Given the description of an element on the screen output the (x, y) to click on. 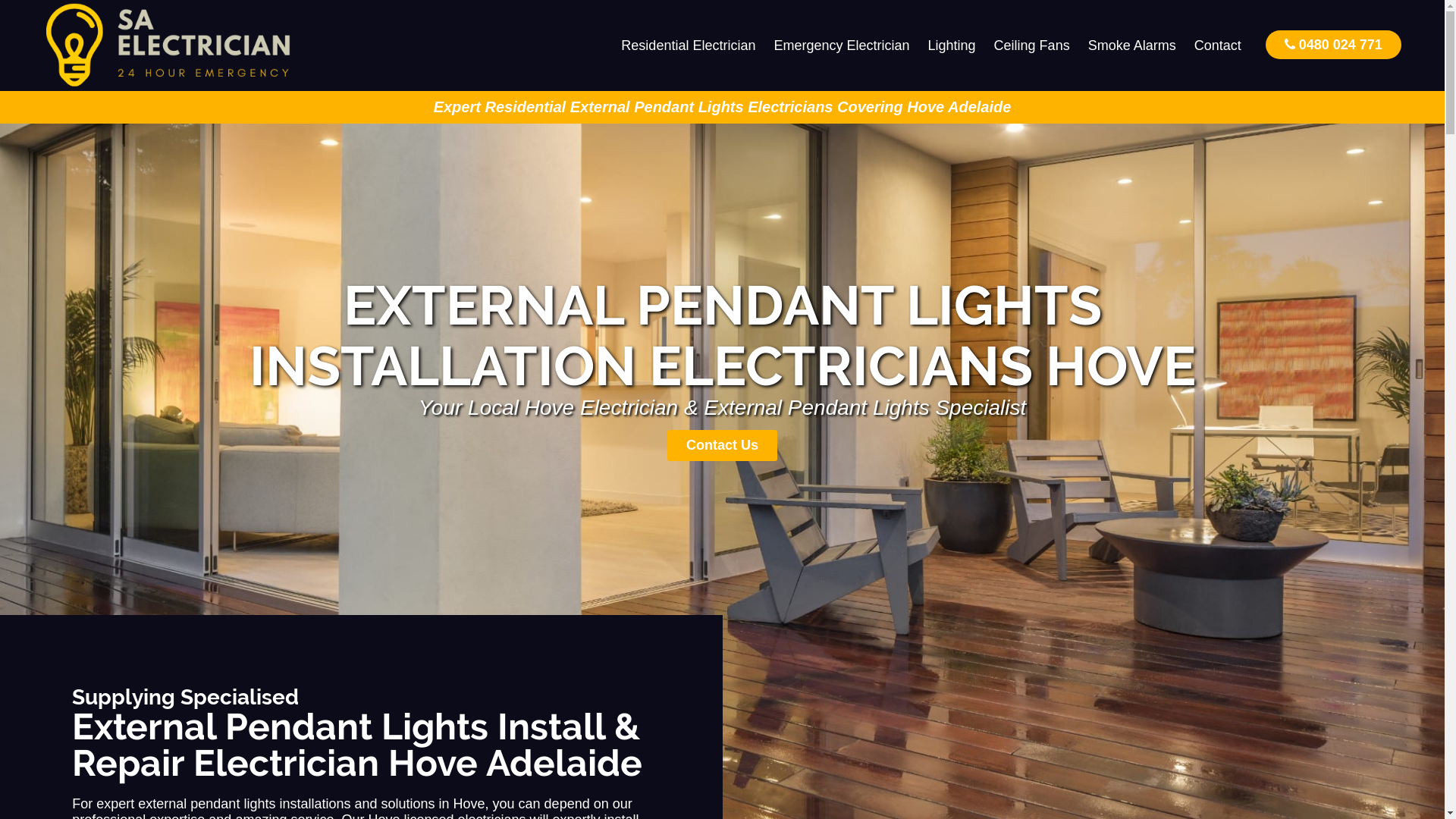
Ceiling Fans Element type: text (1032, 45)
Lighting Element type: text (952, 45)
Residential Electrician Element type: text (687, 45)
Smoke Alarms Element type: text (1132, 45)
Contact Us Element type: text (722, 445)
Contact Element type: text (1217, 45)
0480 024 771 Element type: text (1333, 44)
Emergency Electrician Element type: text (841, 45)
